Given the description of an element on the screen output the (x, y) to click on. 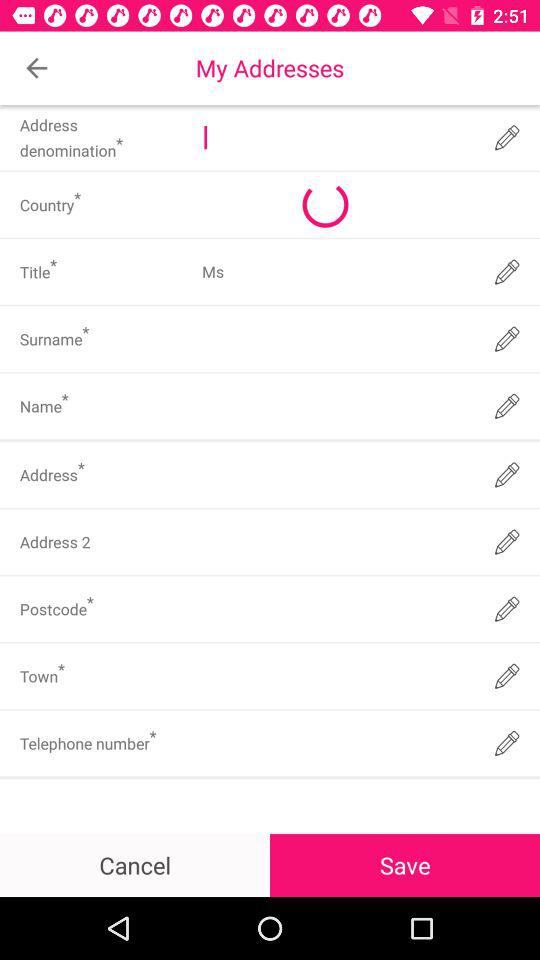
insert telephone number (335, 743)
